Given the description of an element on the screen output the (x, y) to click on. 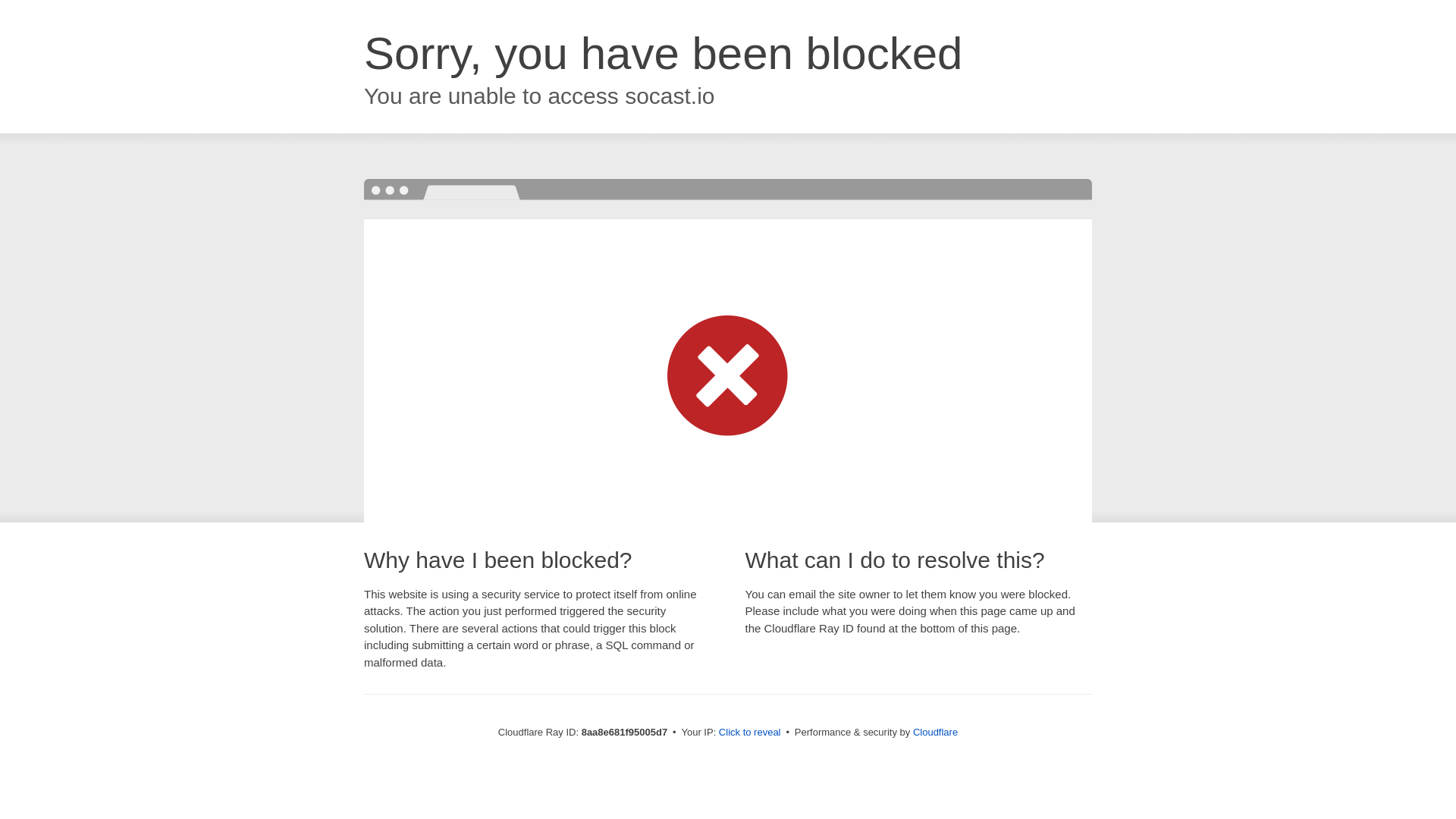
Click to reveal (749, 732)
Cloudflare (935, 731)
